Given the description of an element on the screen output the (x, y) to click on. 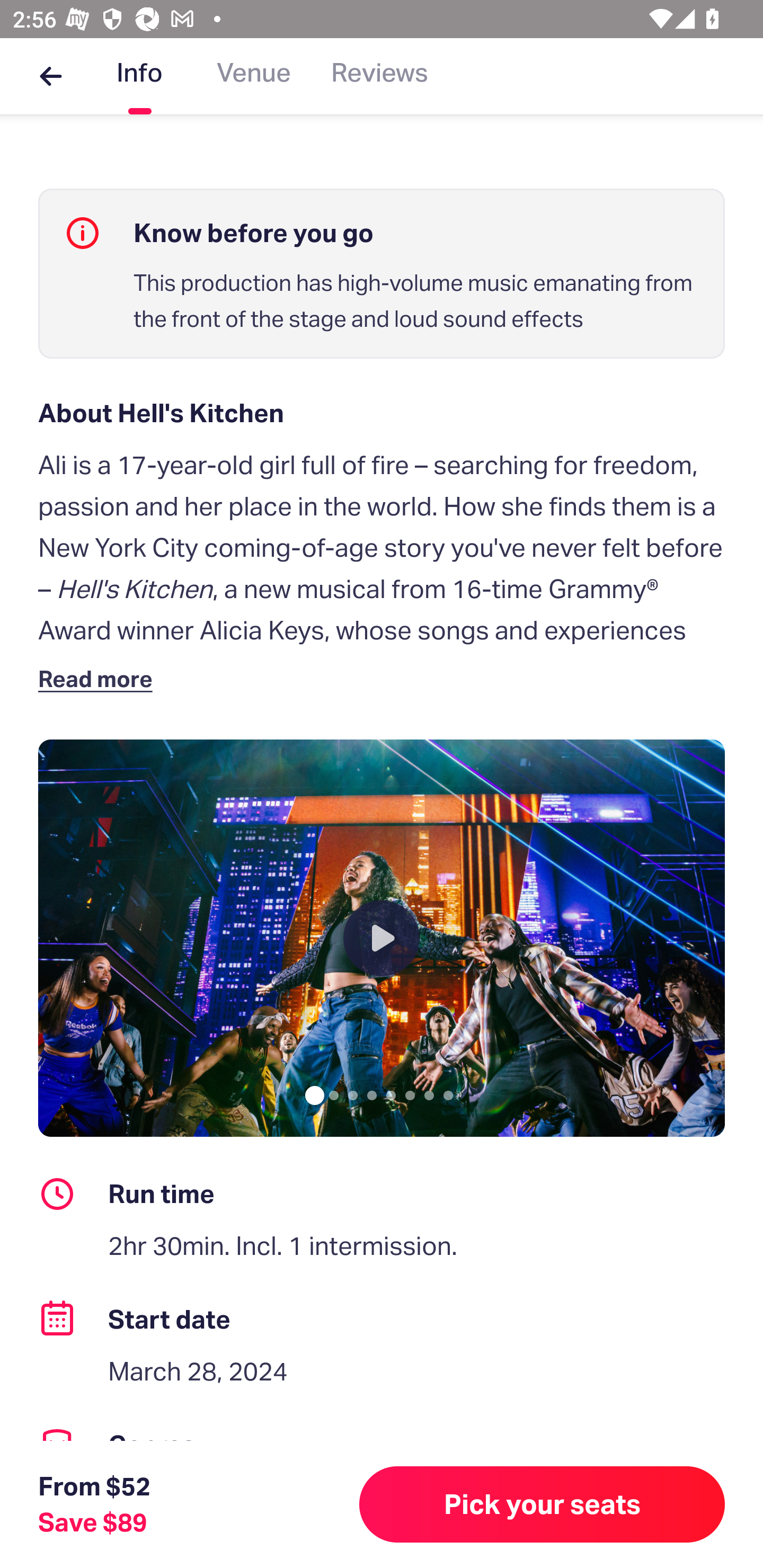
Venue (253, 75)
Reviews (379, 75)
About Hell's Kitchen (381, 412)
Read more (99, 677)
Pick your seats (541, 1504)
